Given the description of an element on the screen output the (x, y) to click on. 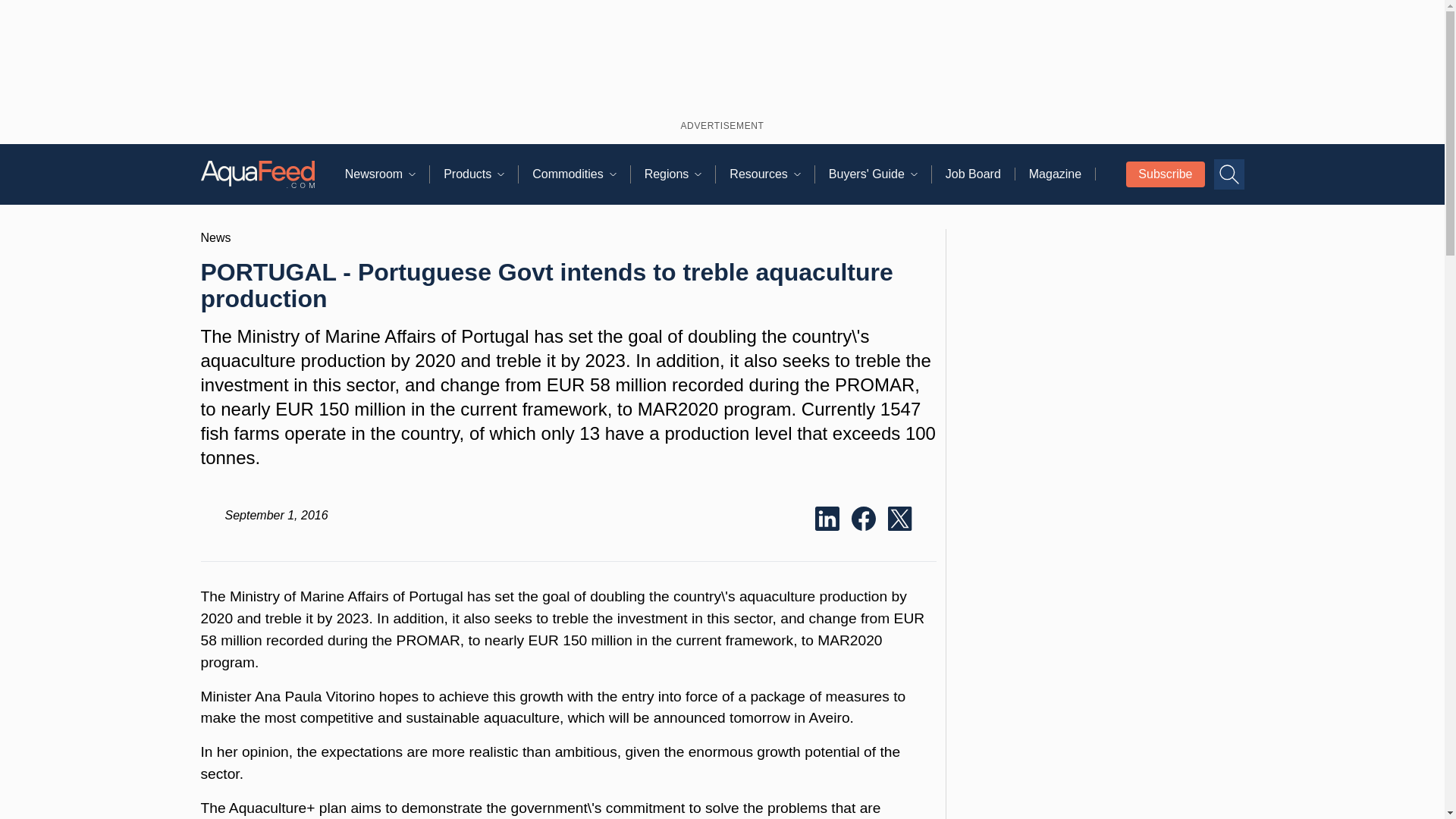
Resources (771, 174)
Regions (680, 174)
Buyers' Guide (879, 174)
Newsroom (387, 174)
Products (481, 174)
3rd party ad content (1098, 743)
Commodities (581, 174)
3rd party ad content (722, 56)
